Given the description of an element on the screen output the (x, y) to click on. 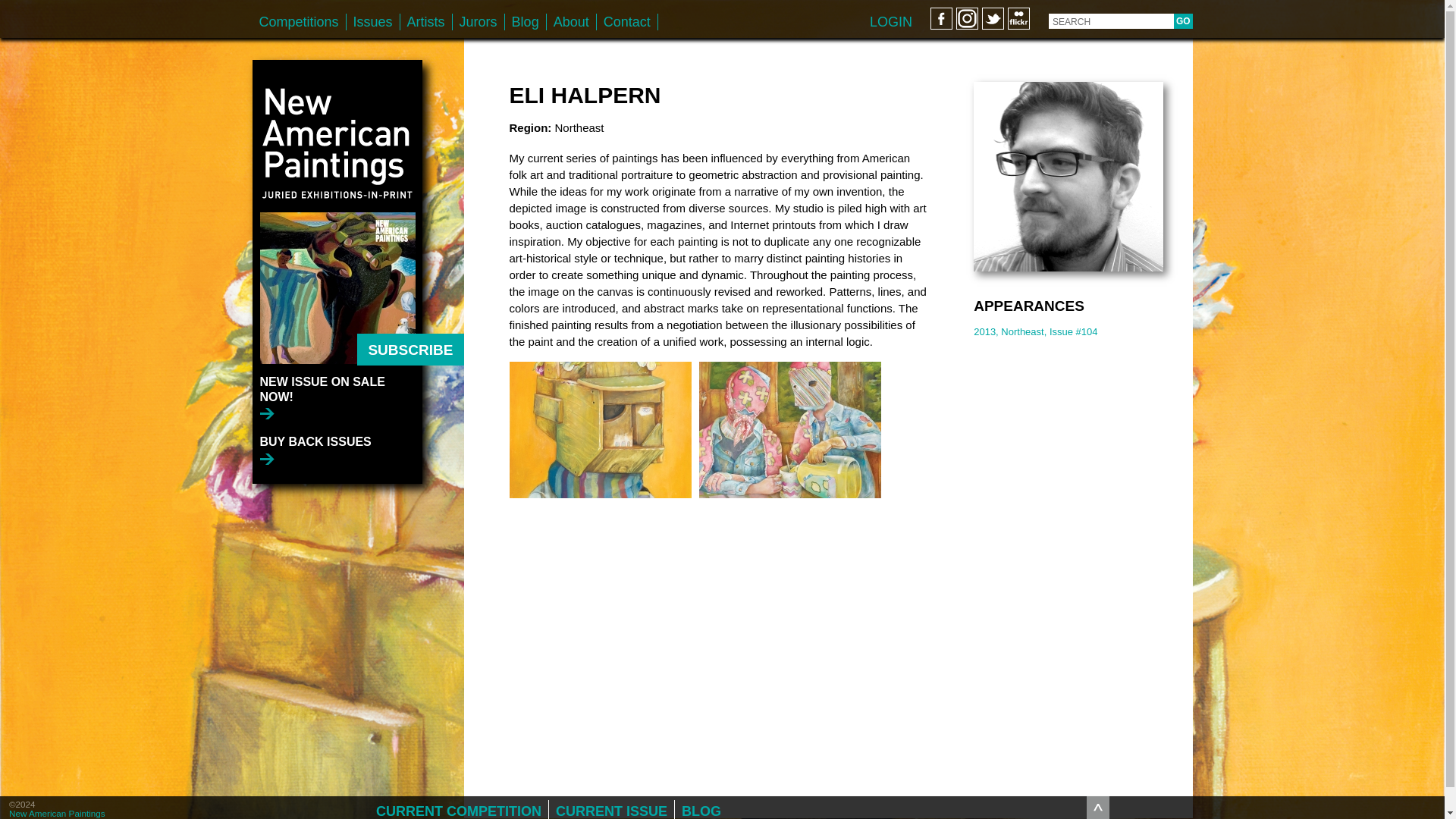
BLOG (701, 809)
Buy back issues (315, 449)
Contact (627, 21)
Blog (525, 21)
Issues (372, 21)
Jurors (477, 21)
New American Paintings (56, 813)
Login (890, 21)
CURRENT COMPETITION (458, 809)
NEW ISSUE ON SALE NOW! (340, 396)
toggle (1097, 807)
LOGIN (890, 21)
BUY BACK ISSUES (315, 449)
Go (1182, 20)
Jurors (477, 21)
